Given the description of an element on the screen output the (x, y) to click on. 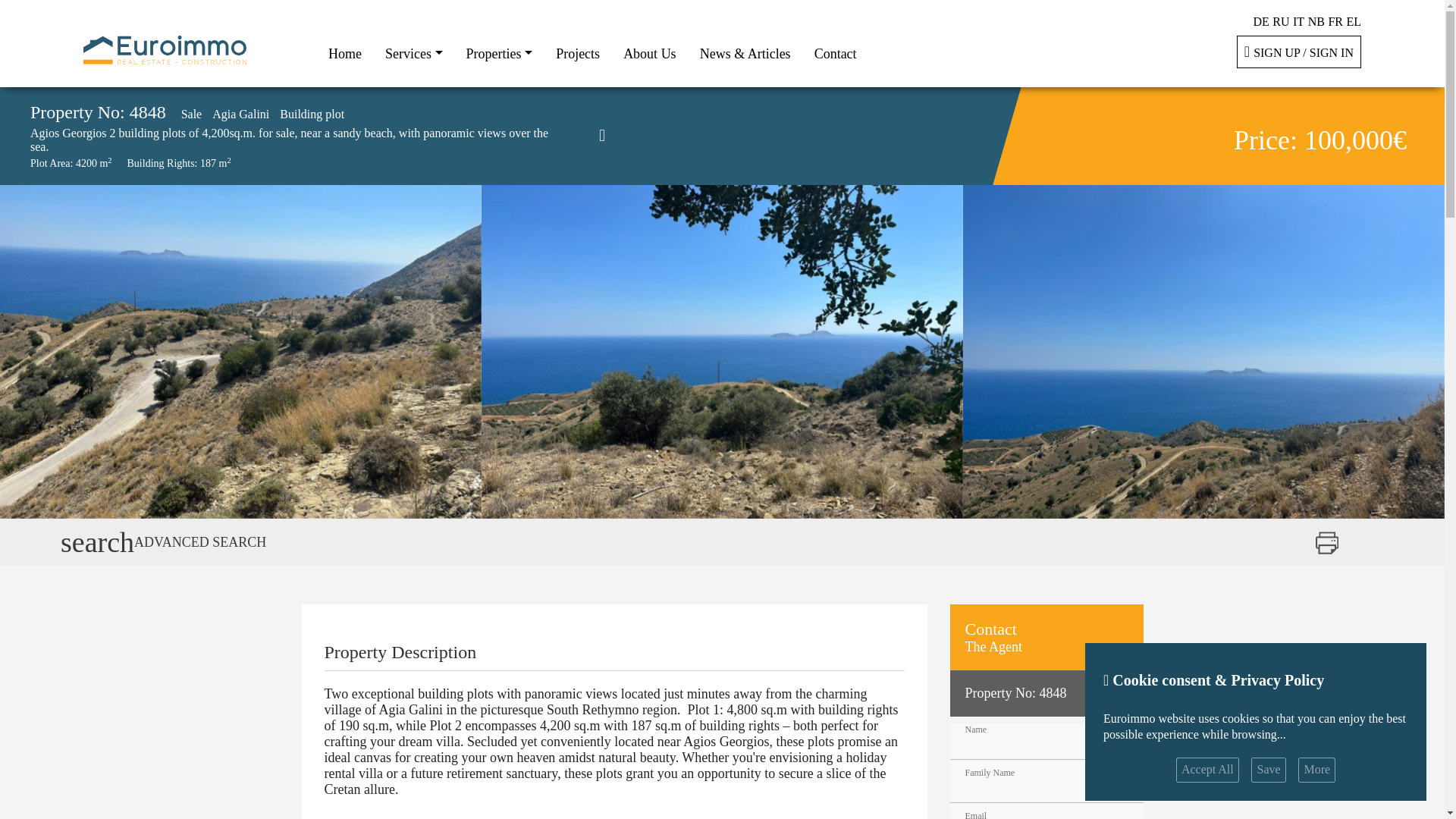
DE (1260, 21)
Projects (577, 53)
About Us (649, 53)
Services (413, 53)
Properties (499, 53)
RU (1280, 21)
EL (1353, 21)
Contact (835, 53)
FR (1334, 21)
NB (1315, 21)
Home (344, 53)
